Given the description of an element on the screen output the (x, y) to click on. 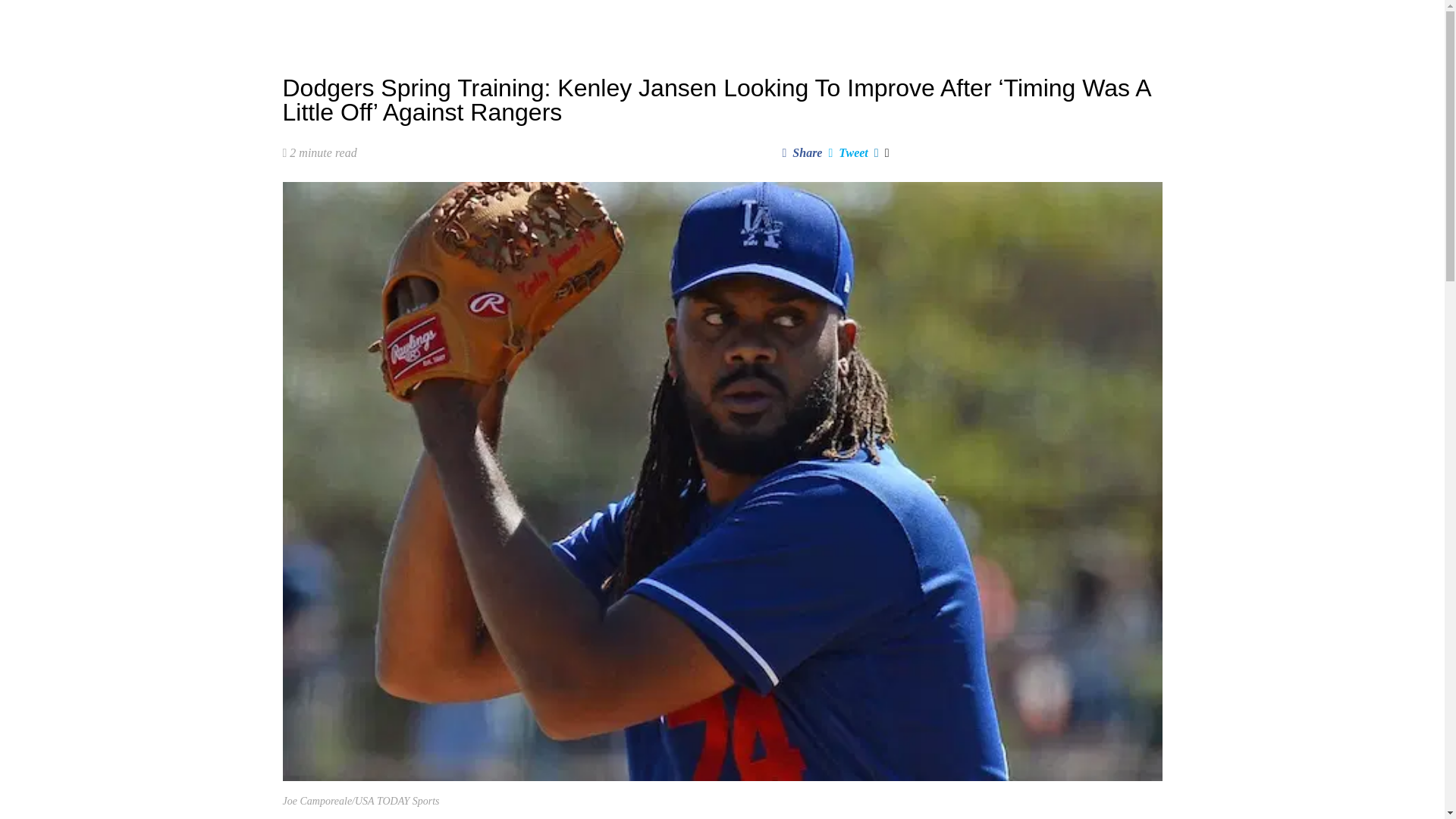
Rumors (513, 22)
Schedules (578, 22)
Dodger Blue (322, 22)
Team (640, 22)
Dodgers News (440, 22)
